Given the description of an element on the screen output the (x, y) to click on. 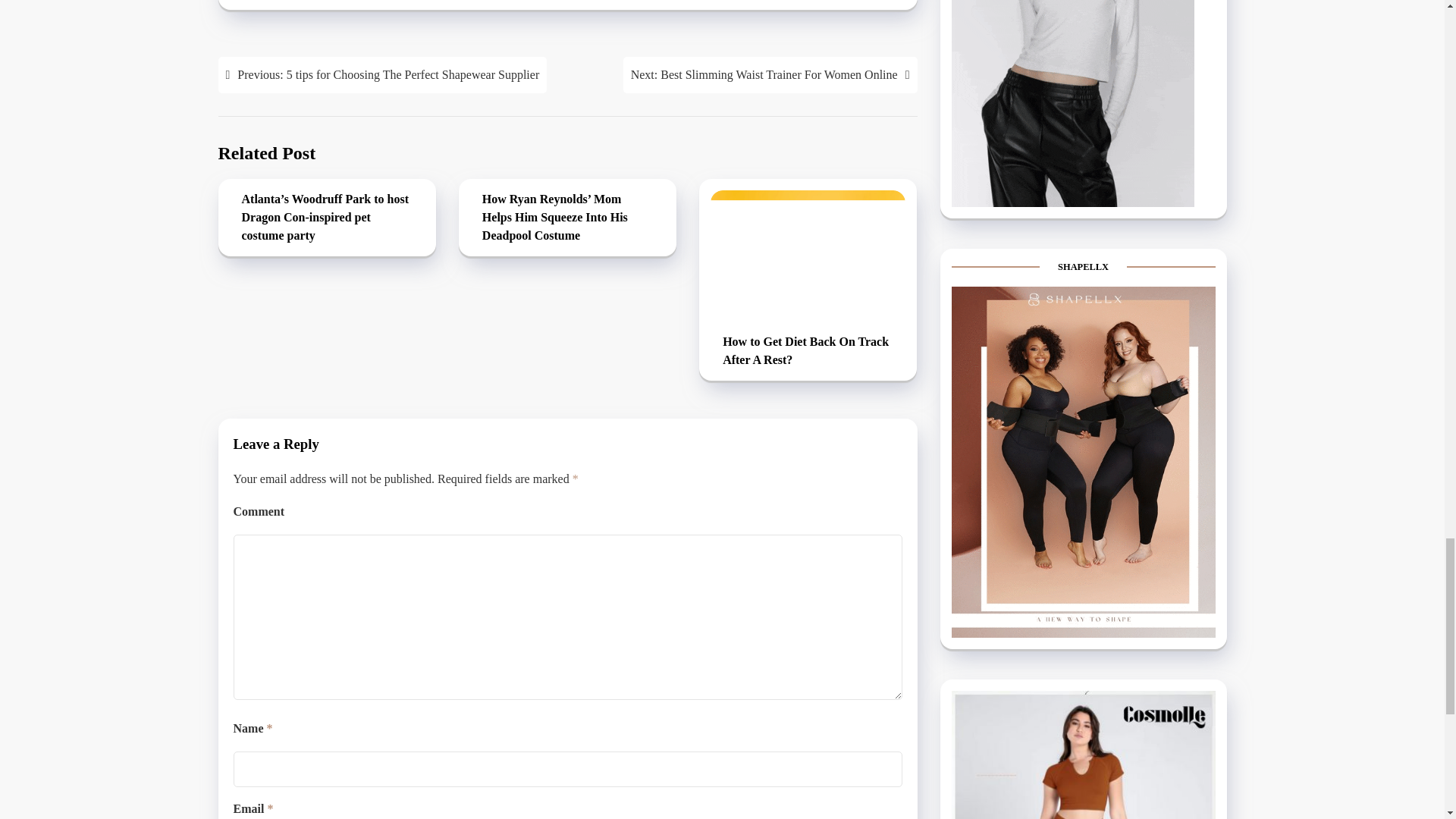
Next: Best Slimming Waist Trainer For Women Online (770, 74)
Previous: 5 tips for Choosing The Perfect Shapewear Supplier (382, 74)
